Given the description of an element on the screen output the (x, y) to click on. 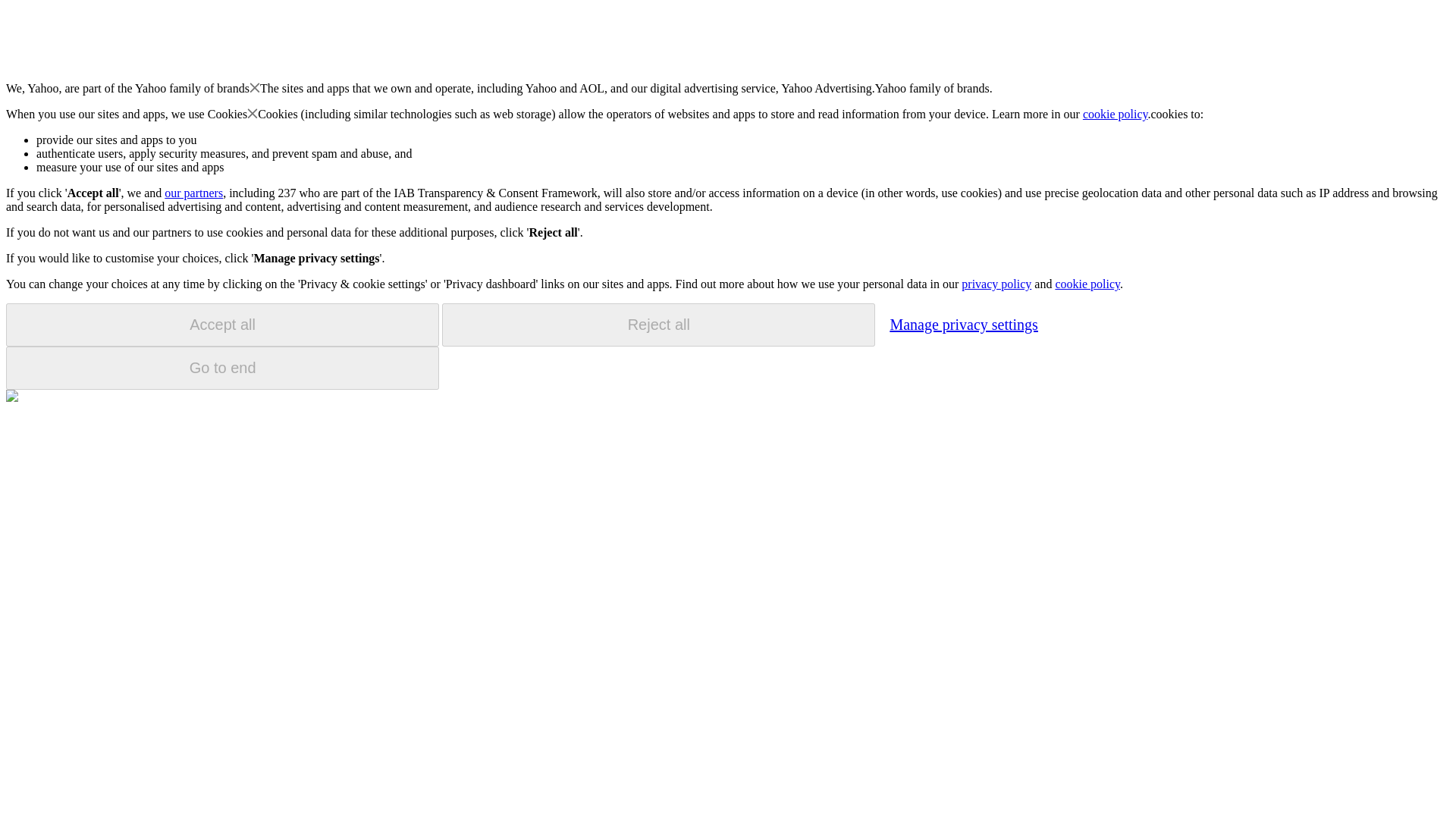
Manage privacy settings (963, 323)
cookie policy (1115, 113)
cookie policy (1086, 283)
Go to end (222, 367)
Reject all (658, 324)
Accept all (222, 324)
our partners (193, 192)
privacy policy (995, 283)
